Given the description of an element on the screen output the (x, y) to click on. 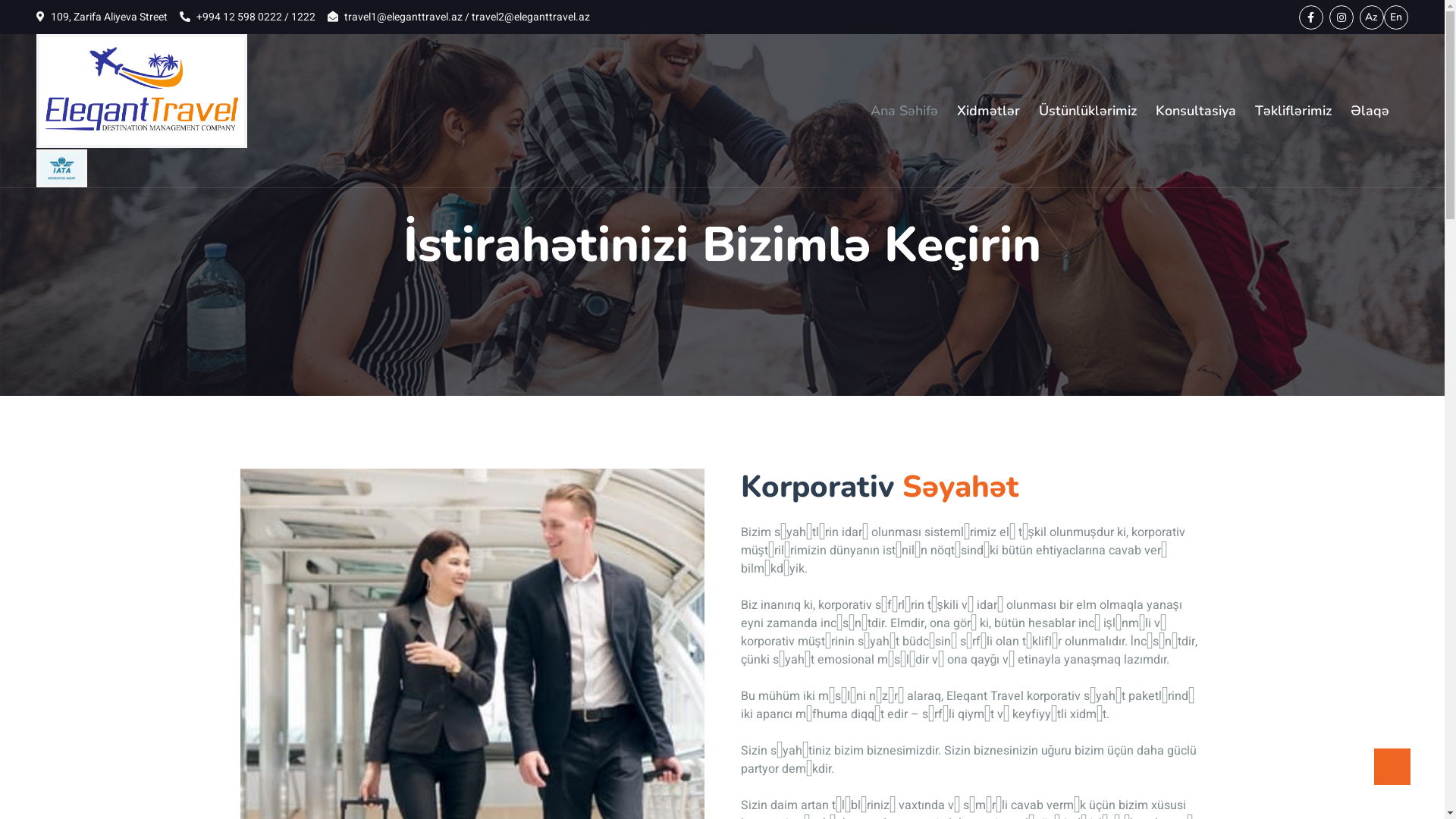
En Element type: text (1395, 16)
Konsultasiya Element type: text (1195, 110)
Az Element type: text (1371, 16)
